Given the description of an element on the screen output the (x, y) to click on. 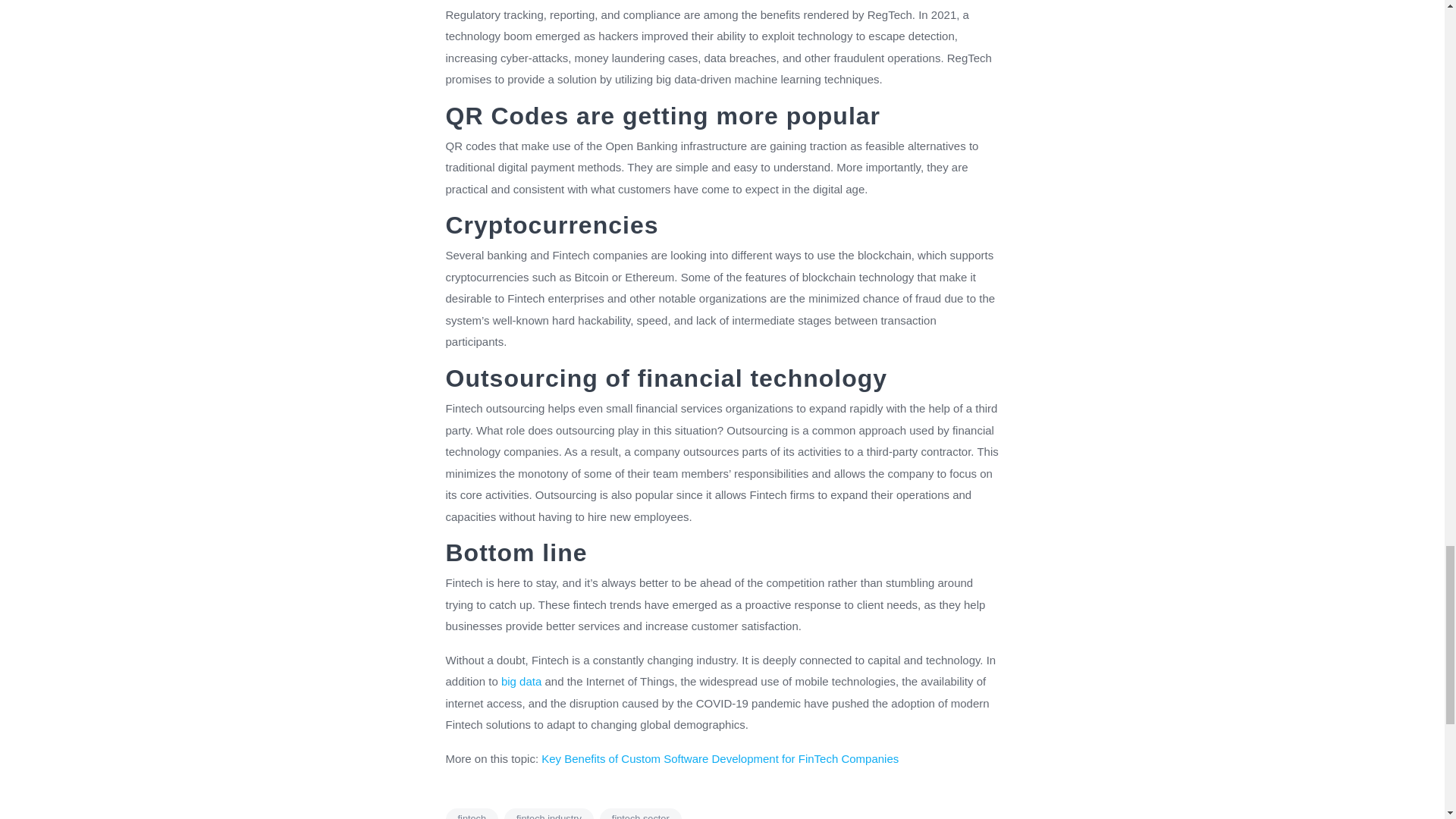
fintech (472, 813)
fintech industry (548, 813)
big data (520, 680)
fintech sector (640, 813)
